Given the description of an element on the screen output the (x, y) to click on. 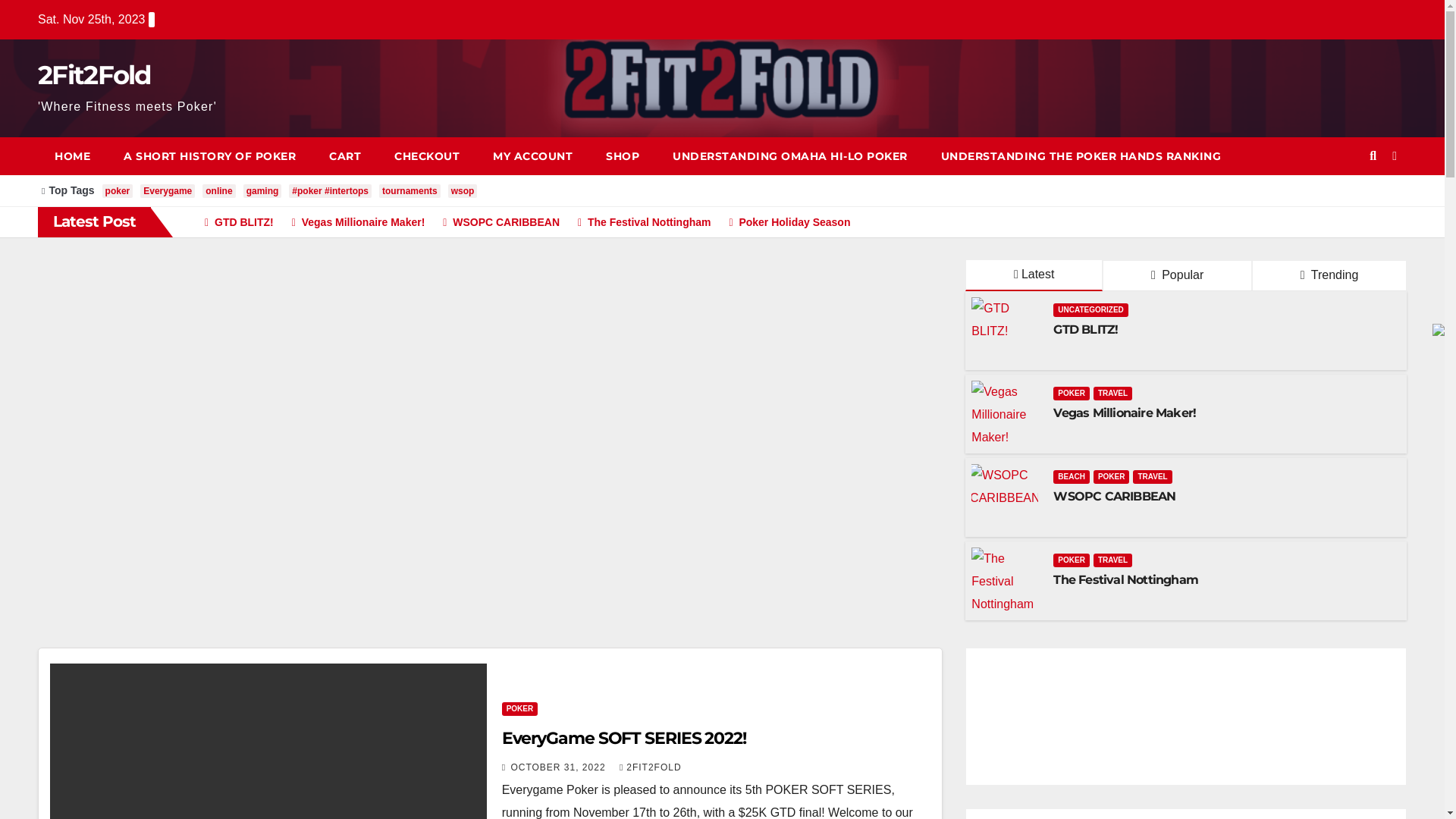
Vegas Millionaire Maker! Element type: text (1124, 412)
POKER Element type: text (1111, 476)
EveryGame SOFT SERIES 2022! Element type: text (624, 738)
wsop Element type: text (462, 190)
MY ACCOUNT Element type: text (532, 156)
GTD BLITZ! Element type: text (1085, 329)
WSOPC CARIBBEAN Element type: text (494, 222)
The Festival Nottingham Element type: text (637, 222)
POKER Element type: text (1071, 393)
CHECKOUT Element type: text (426, 156)
#poker #intertops Element type: text (329, 190)
OCTOBER 31, 2022 Element type: text (559, 767)
TRAVEL Element type: text (1112, 560)
TRAVEL Element type: text (1112, 393)
BEACH Element type: text (1071, 476)
The Festival Nottingham Element type: text (1125, 579)
Poker Holiday Season Element type: text (781, 222)
Vegas Millionaire Maker! Element type: text (352, 222)
Trending Element type: text (1329, 275)
HOME Element type: text (71, 156)
Popular Element type: text (1177, 275)
UNDERSTANDING THE POKER HANDS RANKING Element type: text (1080, 156)
2FIT2FOLD Element type: text (650, 767)
2Fit2Fold Element type: text (94, 75)
SHOP Element type: text (622, 156)
POKER Element type: text (1071, 560)
GTD BLITZ! Element type: text (232, 222)
Latest Element type: text (1033, 275)
online Element type: text (218, 190)
Everygame Element type: text (167, 190)
CART Element type: text (344, 156)
TRAVEL Element type: text (1151, 476)
WSOPC CARIBBEAN Element type: text (1114, 496)
POKER Element type: text (520, 708)
A SHORT HISTORY OF POKER Element type: text (209, 156)
UNCATEGORIZED Element type: text (1090, 309)
tournaments Element type: text (409, 190)
poker Element type: text (117, 190)
gaming Element type: text (262, 190)
UNDERSTANDING OMAHA HI-LO POKER Element type: text (789, 156)
